Given the description of an element on the screen output the (x, y) to click on. 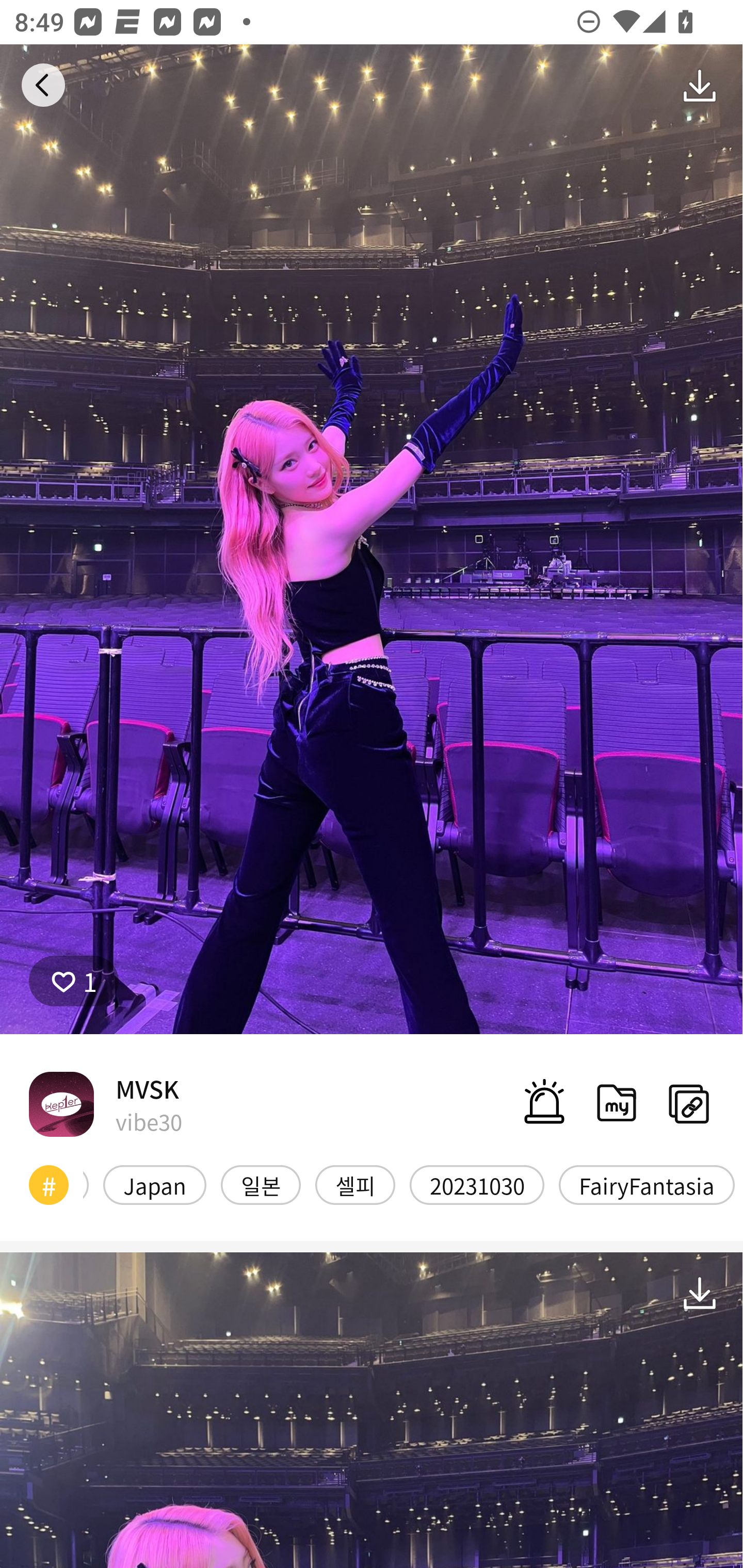
1 (73, 980)
MVSK vibe30 (105, 1103)
Japan (154, 1184)
일본 (260, 1184)
셀피 (355, 1184)
20231030 (476, 1184)
FairyFantasia (646, 1184)
